Given the description of an element on the screen output the (x, y) to click on. 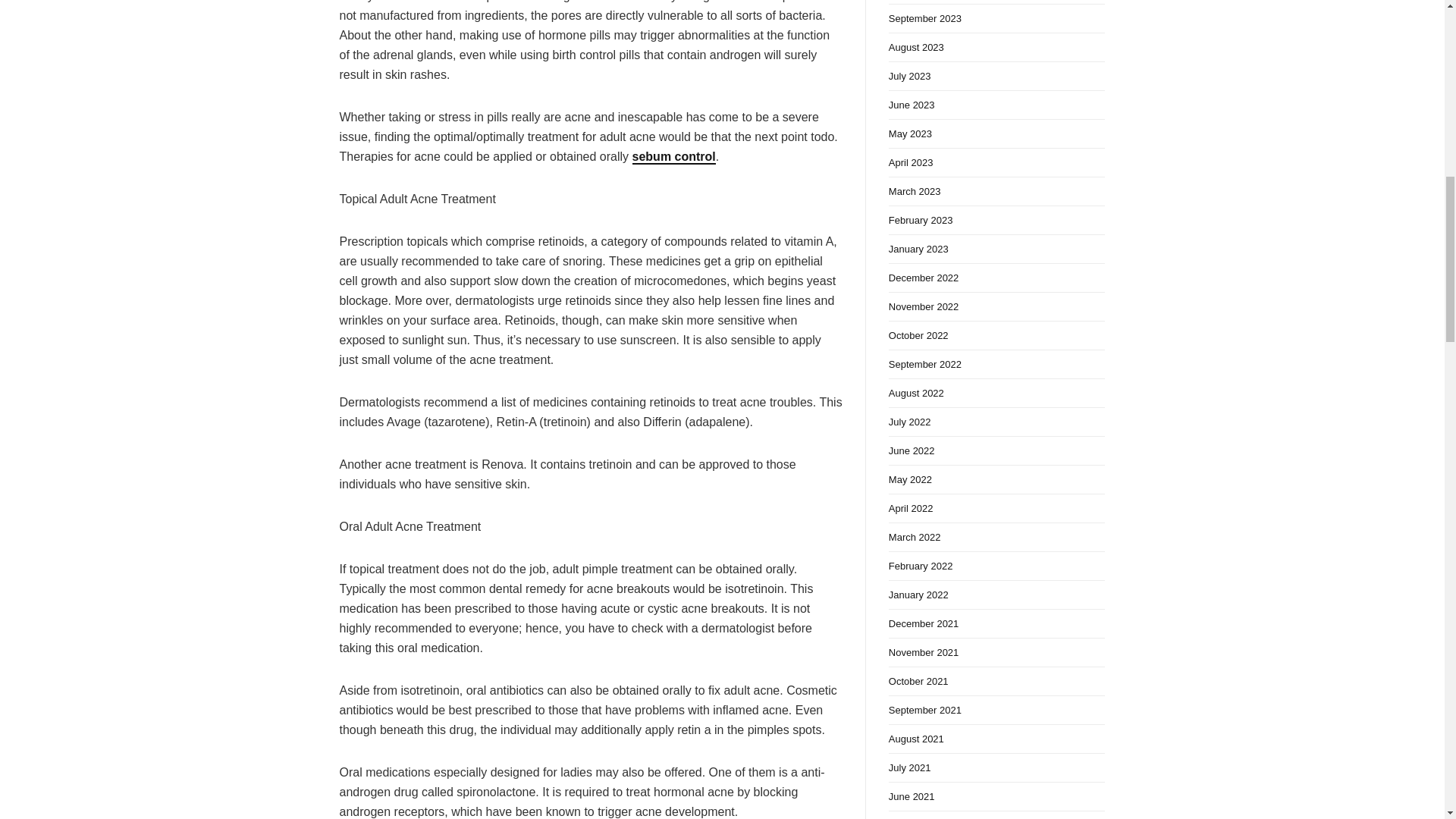
August 2023 (996, 47)
July 2023 (996, 76)
April 2023 (996, 162)
June 2023 (996, 104)
September 2023 (996, 18)
sebum control (673, 156)
May 2023 (996, 133)
October 2023 (996, 2)
